Given the description of an element on the screen output the (x, y) to click on. 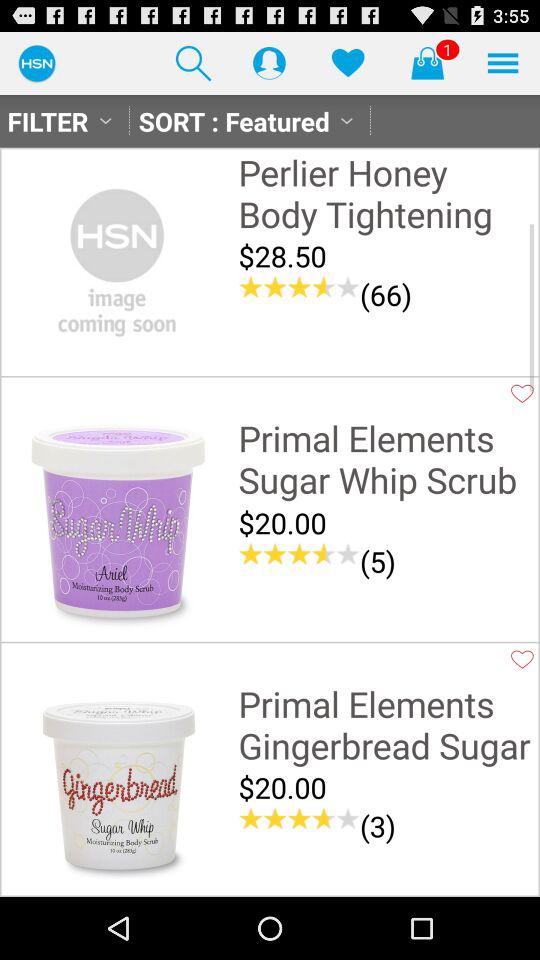
choose the item below (5) item (385, 596)
